Given the description of an element on the screen output the (x, y) to click on. 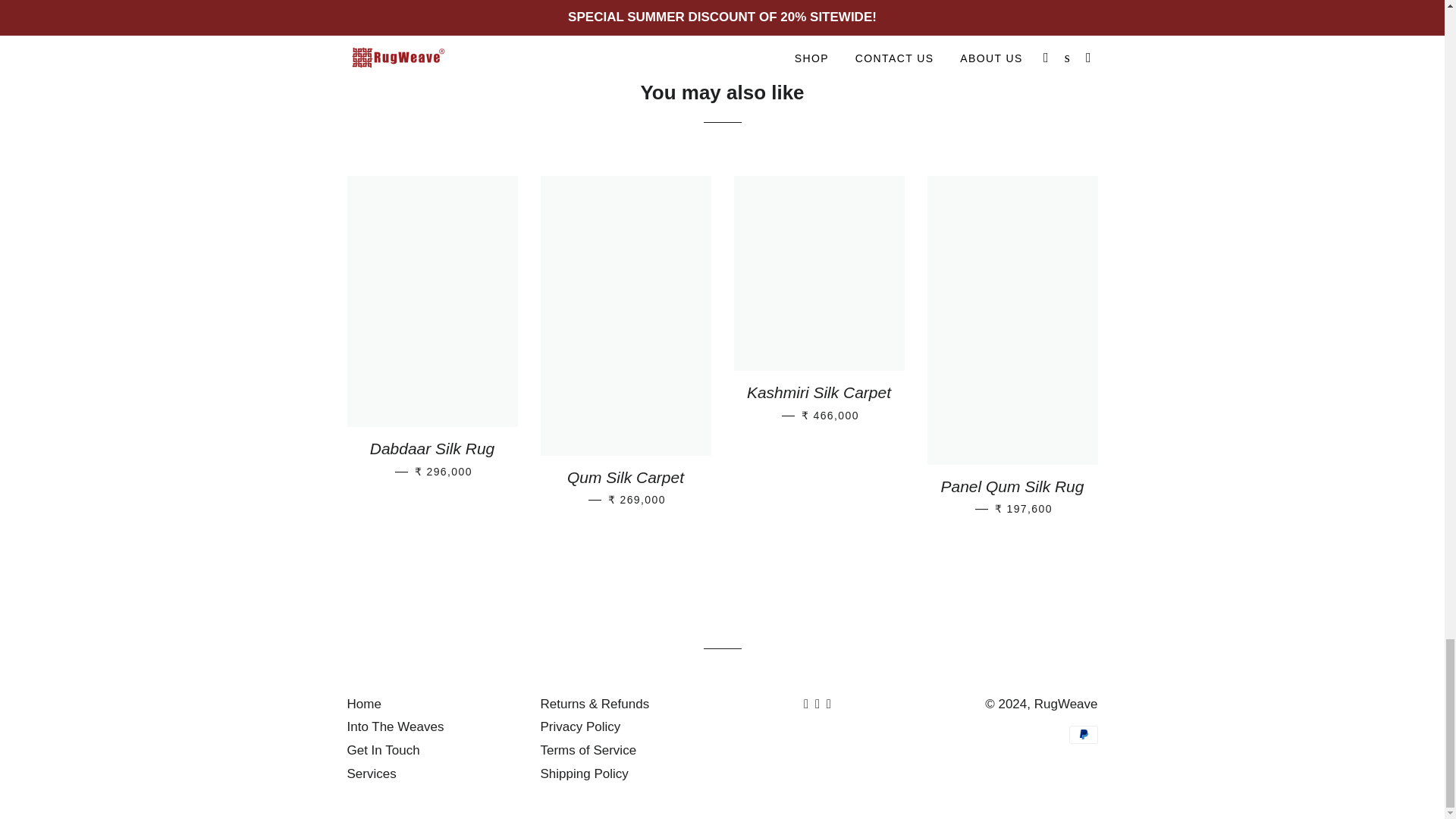
Get In Touch (383, 749)
Services (371, 773)
Into The Weaves (395, 726)
PayPal (1082, 734)
Home (364, 703)
